Given the description of an element on the screen output the (x, y) to click on. 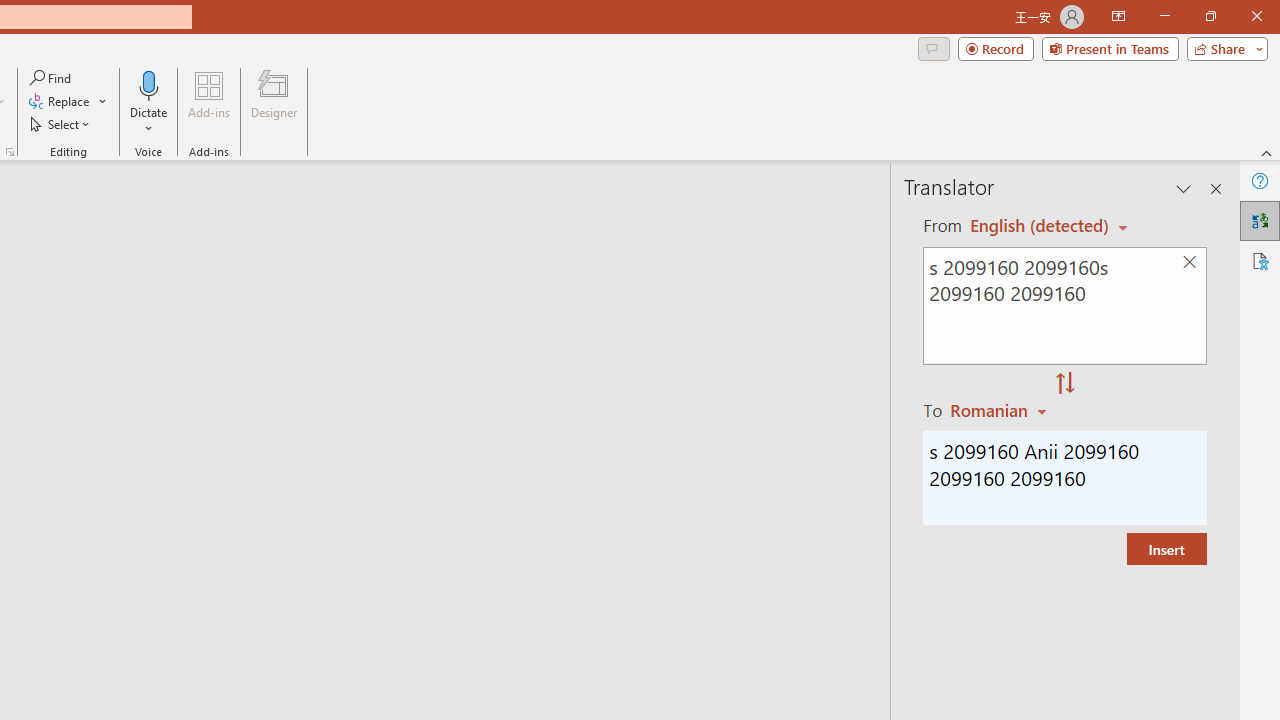
Select (61, 124)
Format Object... (9, 151)
